Given the description of an element on the screen output the (x, y) to click on. 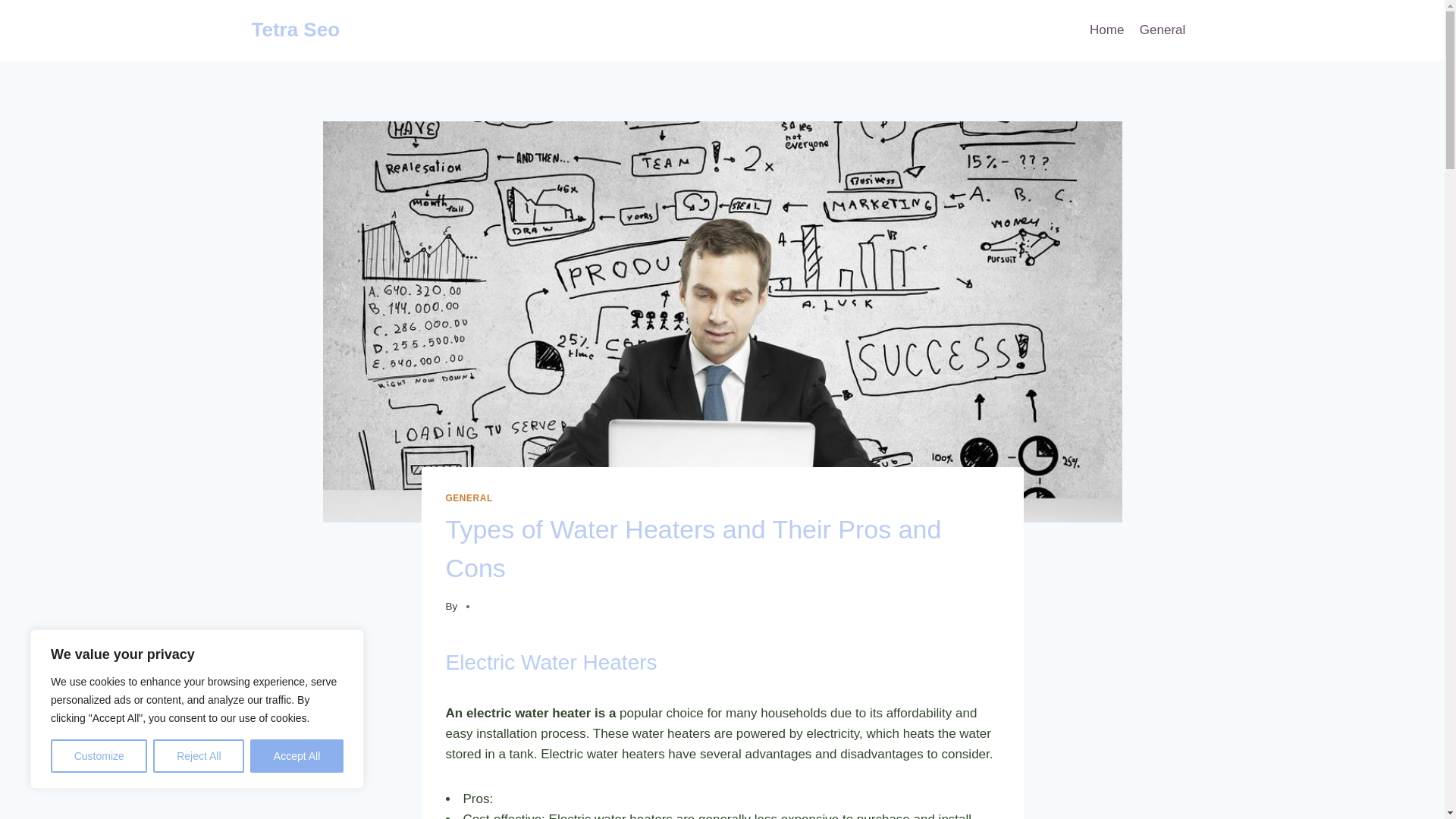
Accept All (296, 756)
Customize (98, 756)
Home (1106, 30)
Tetra Seo (295, 29)
GENERAL (469, 498)
Reject All (198, 756)
General (1162, 30)
